Given the description of an element on the screen output the (x, y) to click on. 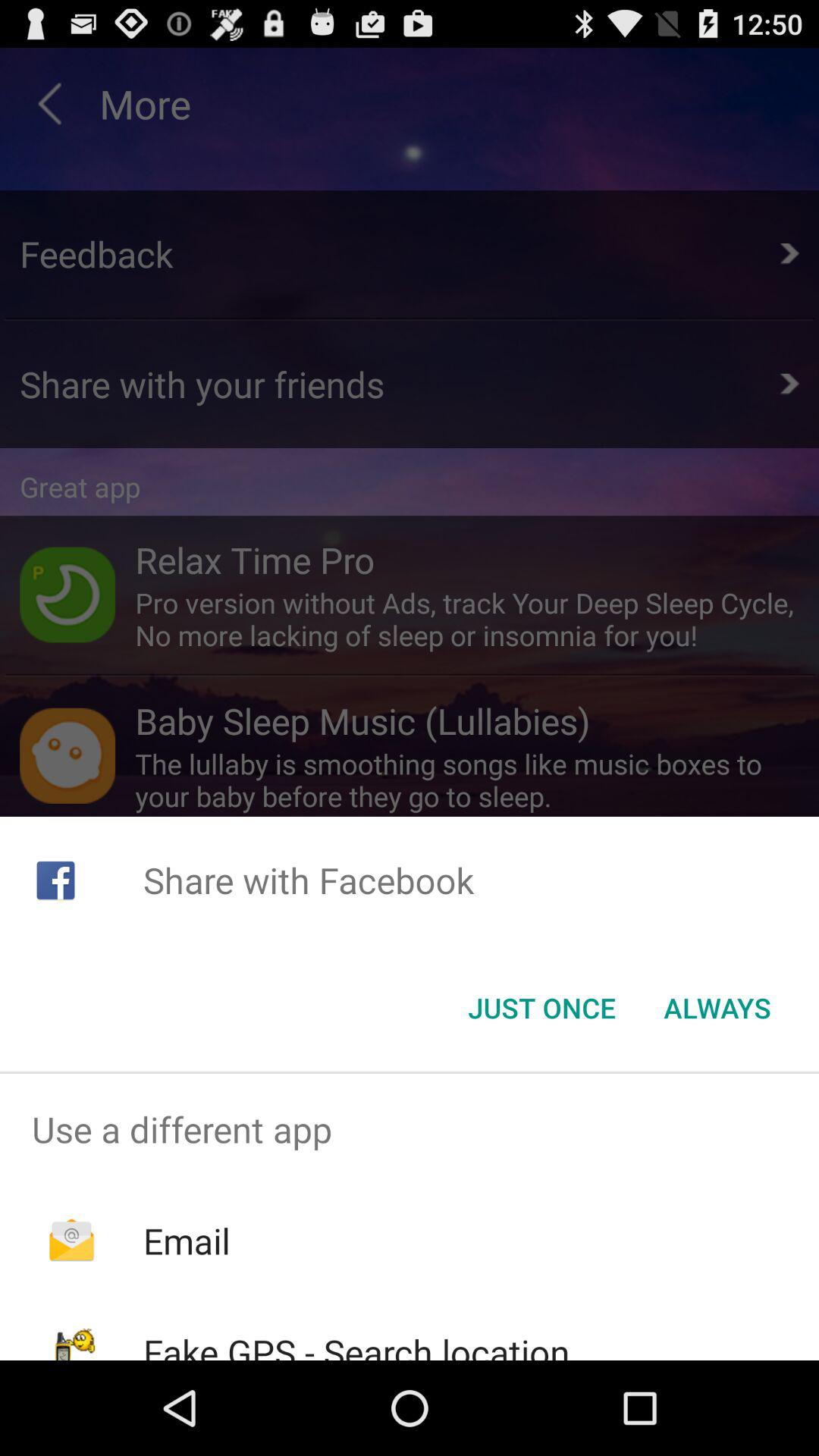
select use a different item (409, 1129)
